Given the description of an element on the screen output the (x, y) to click on. 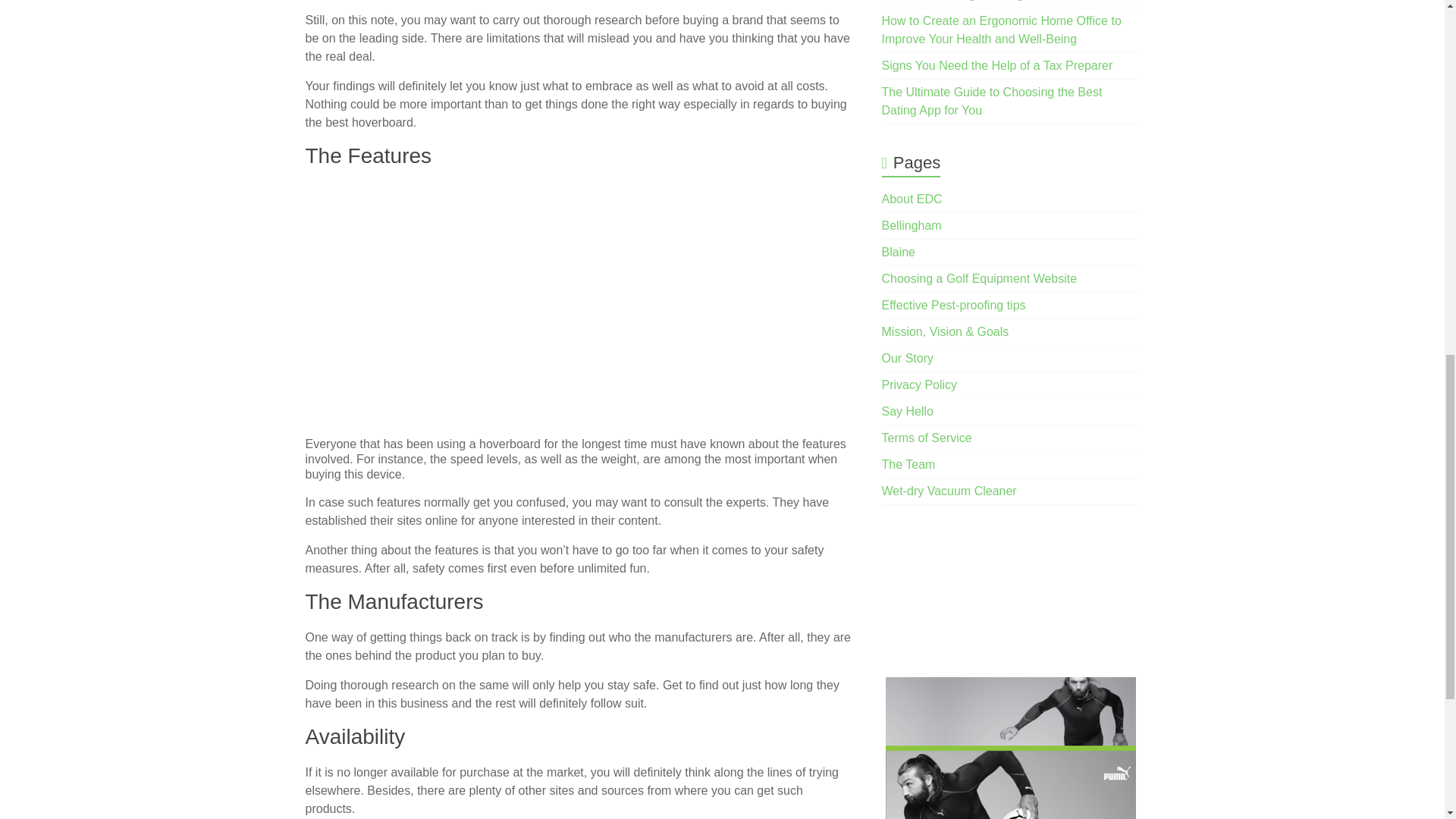
Our Story (907, 358)
Bellingham (912, 225)
Wet-dry Vacuum Cleaner (949, 490)
Terms of Service (927, 437)
The Team (909, 463)
Signs You Need the Help of a Tax Preparer (997, 65)
Choosing a Golf Equipment Website (979, 278)
Say Hello (907, 410)
